Given the description of an element on the screen output the (x, y) to click on. 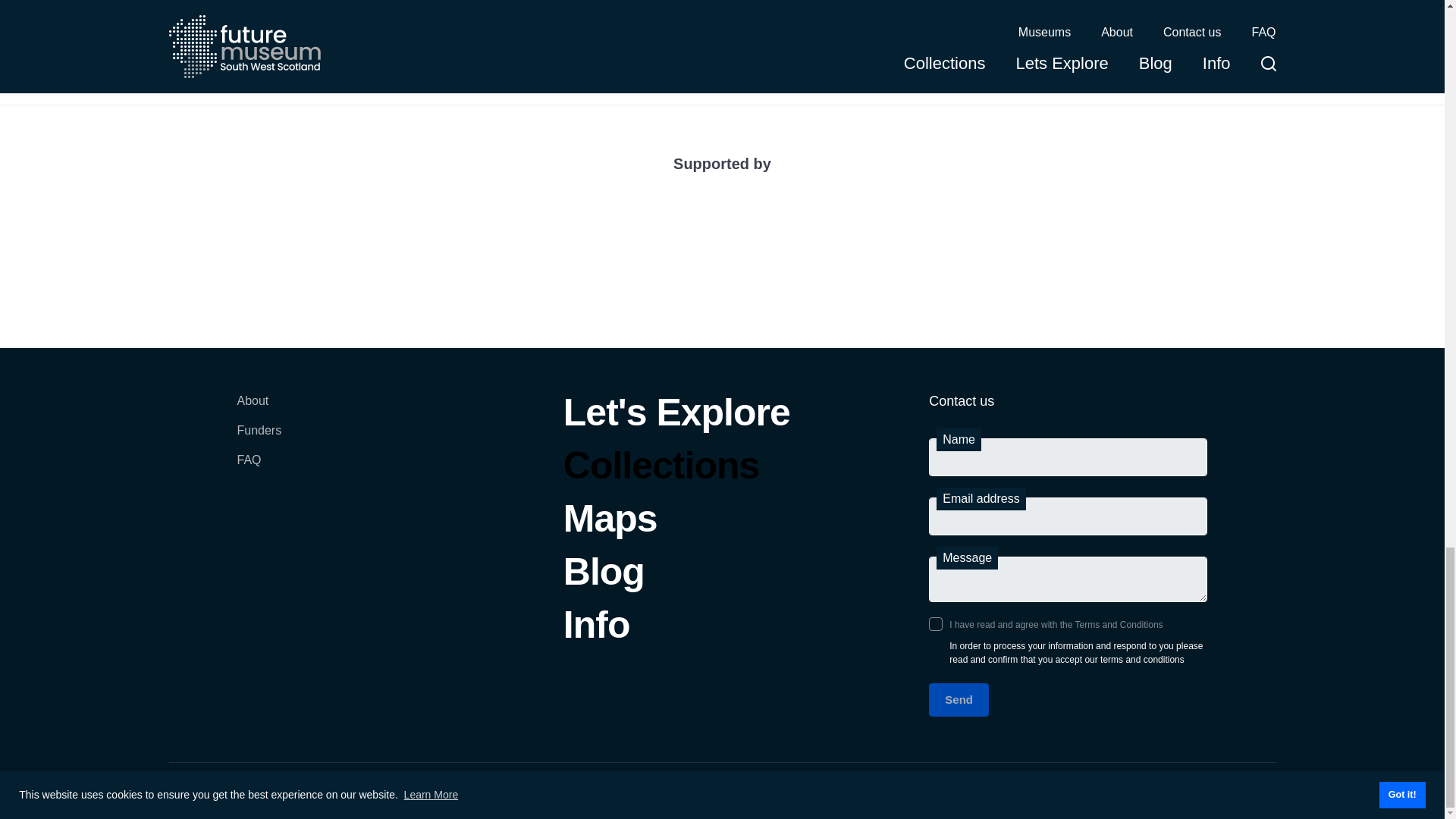
Funders (258, 437)
About (258, 408)
FAQ (258, 467)
1 (935, 623)
Let'S Explore (676, 419)
